Given the description of an element on the screen output the (x, y) to click on. 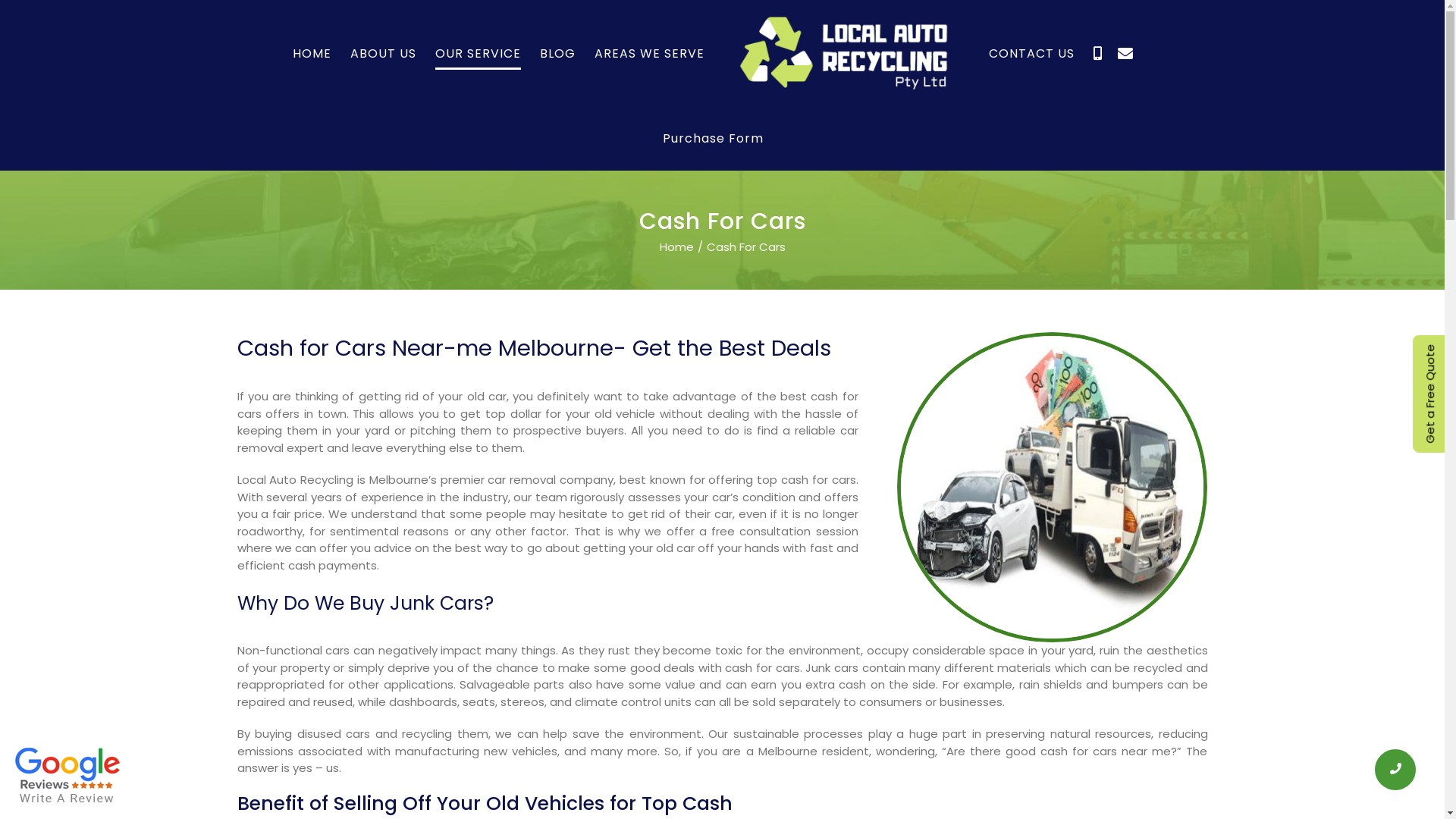
ABOUT US Element type: text (383, 53)
HOME Element type: text (311, 53)
AREAS WE SERVE Element type: text (649, 53)
Purchase Form Element type: text (712, 138)
CONTACT US Element type: text (1031, 53)
OUR SERVICE Element type: text (477, 53)
BLOG Element type: text (557, 53)
Home Element type: text (676, 246)
